Given the description of an element on the screen output the (x, y) to click on. 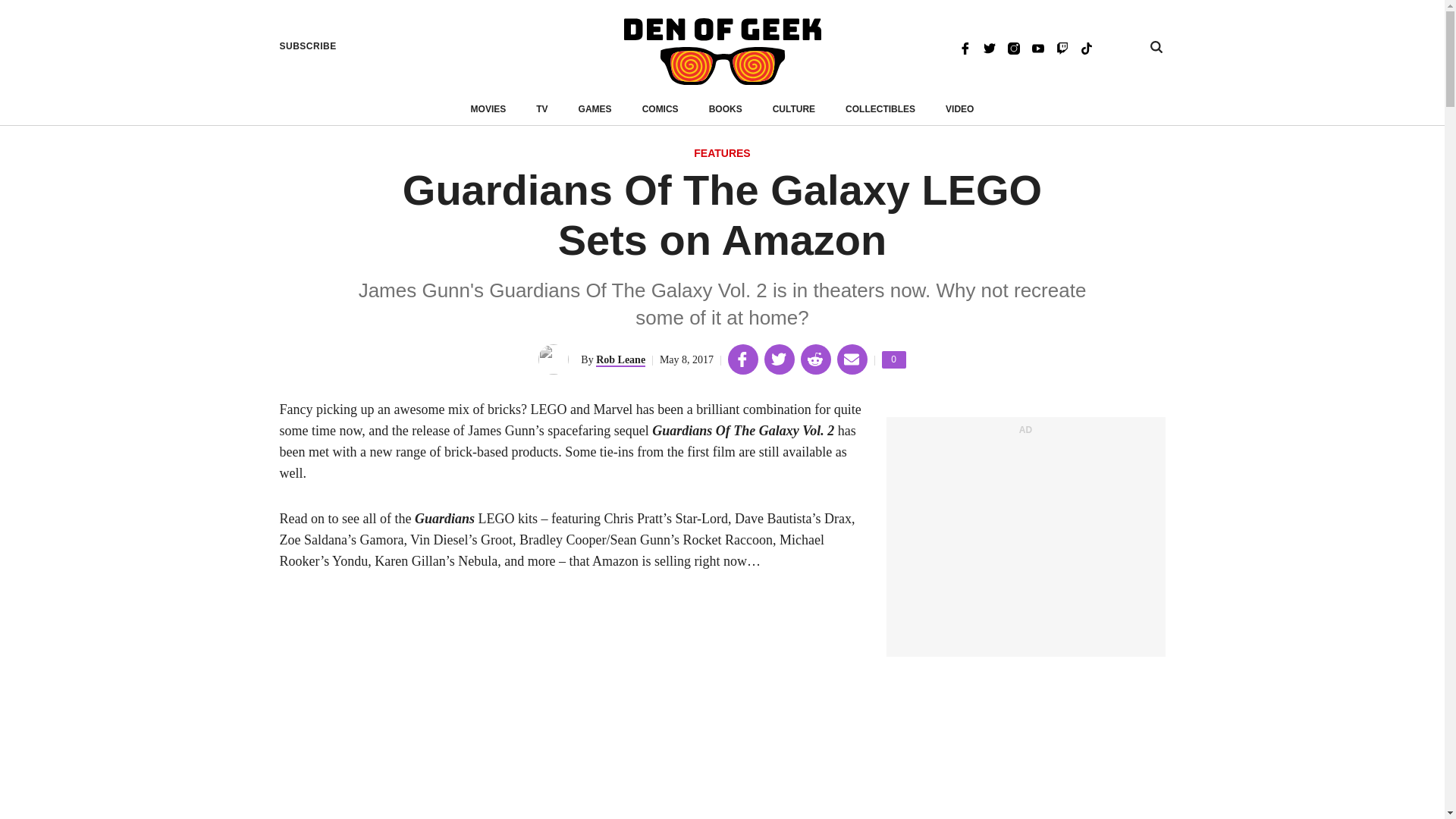
CULTURE (794, 109)
Facebook (964, 46)
MOVIES (488, 109)
Youtube (1037, 46)
Den of Geek (722, 52)
COLLECTIBLES (893, 359)
Toggle search (880, 109)
TV (1155, 46)
FEATURES (541, 109)
BOOKS (721, 153)
TikTok (725, 109)
Instagram (1085, 46)
GAMES (1013, 46)
Twitch (594, 109)
